Given the description of an element on the screen output the (x, y) to click on. 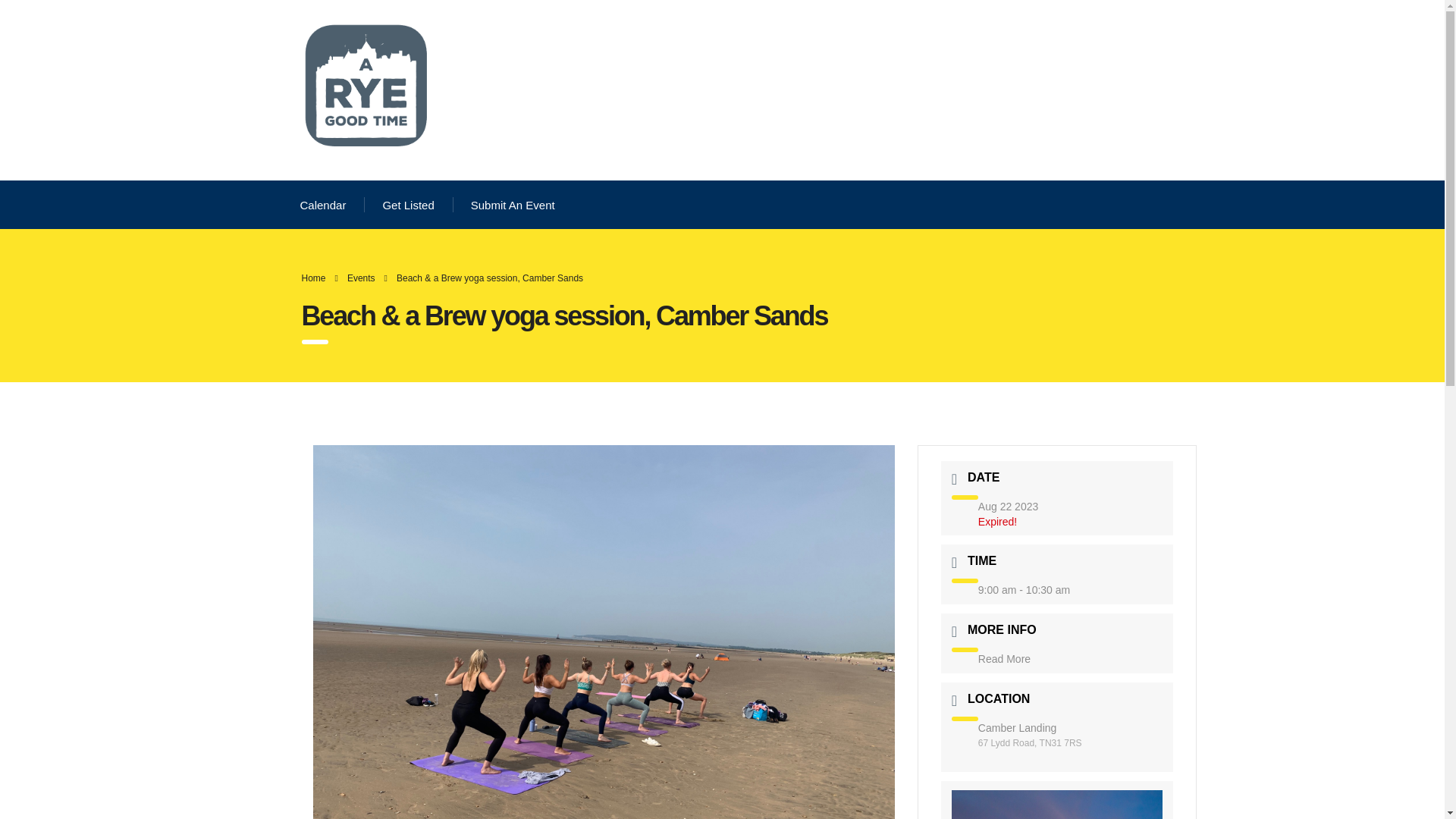
Calendar (323, 204)
Home (313, 277)
Get Listed (407, 204)
Events (361, 277)
Read More (1004, 658)
Go to A Rye Good Time. (313, 277)
Submit An Event (512, 204)
Go to Events. (361, 277)
